Given the description of an element on the screen output the (x, y) to click on. 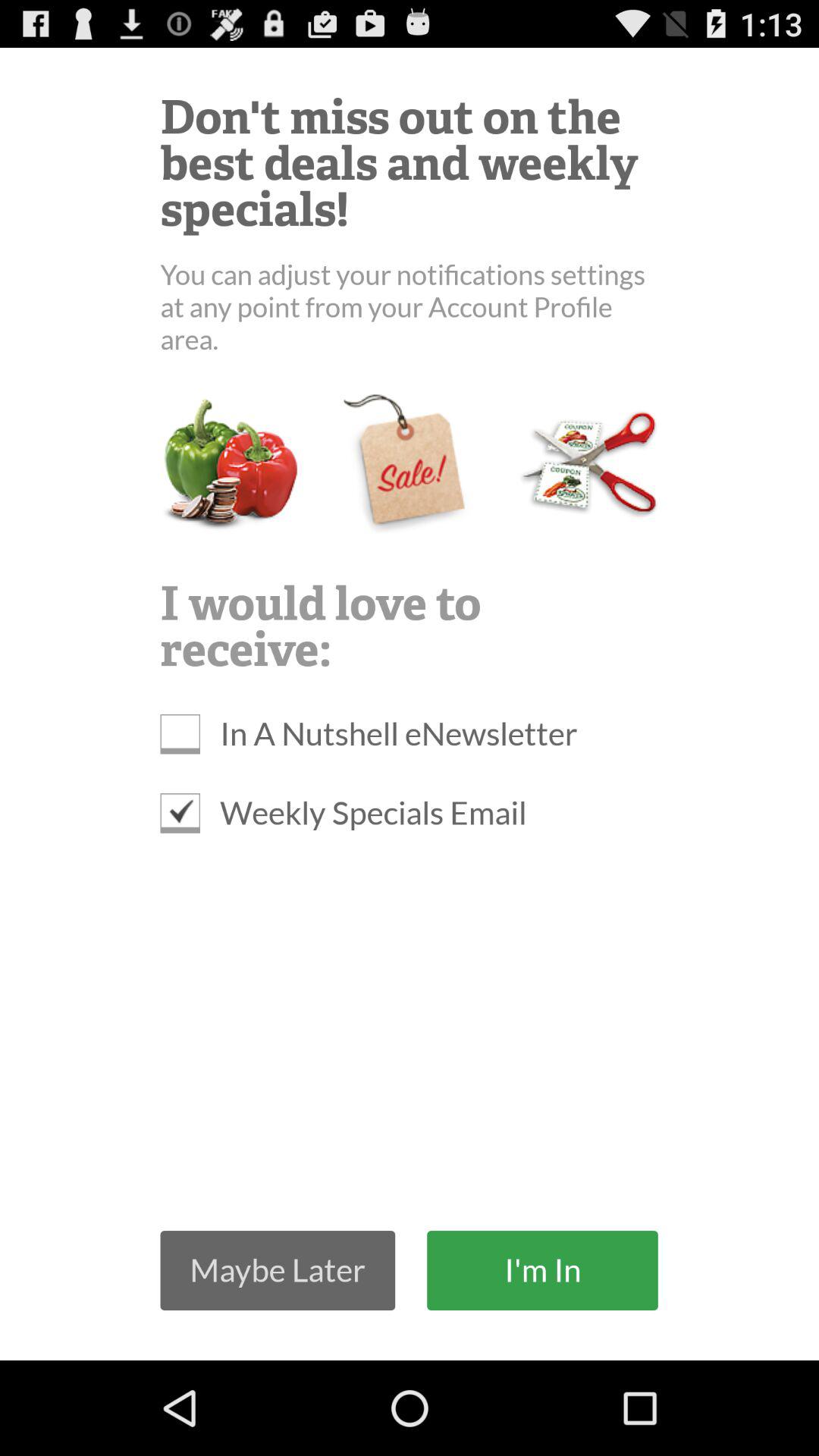
select the button to the left of i'm in item (277, 1270)
